Given the description of an element on the screen output the (x, y) to click on. 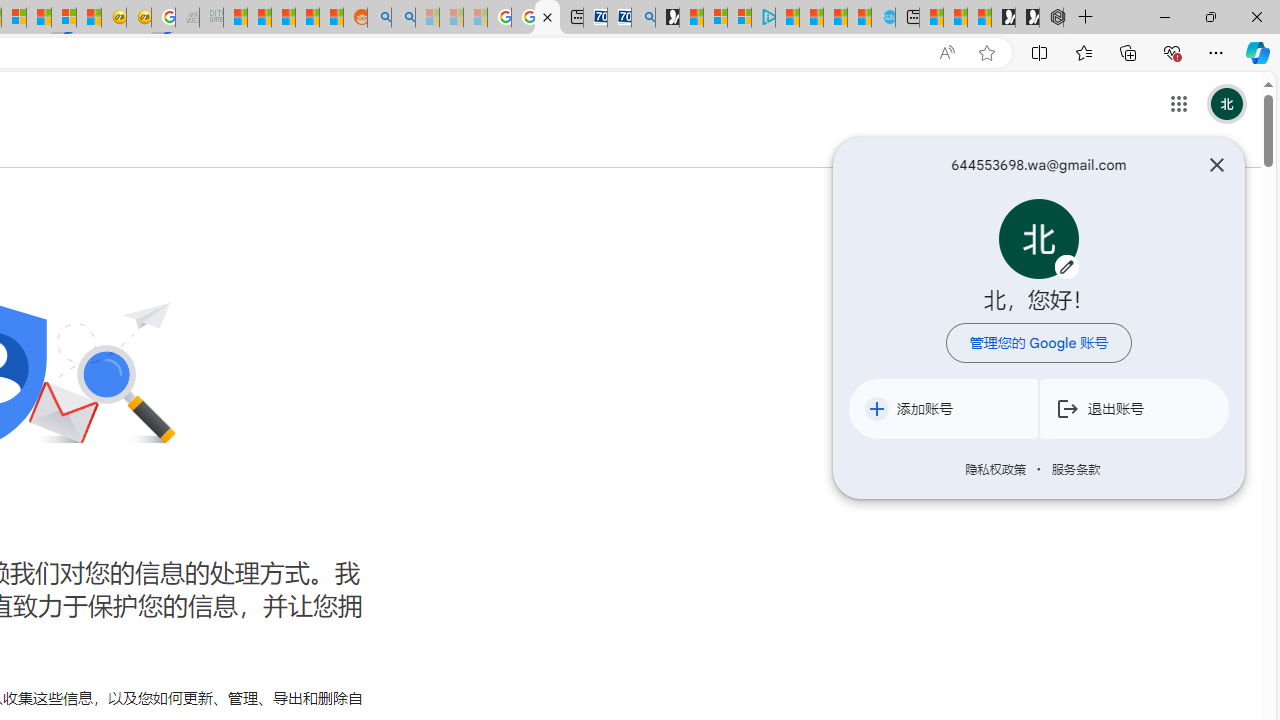
Class: aFCkf NMm5M (877, 408)
Class: gb_E (1178, 103)
Home | Sky Blue Bikes - Sky Blue Bikes (882, 17)
